Given the description of an element on the screen output the (x, y) to click on. 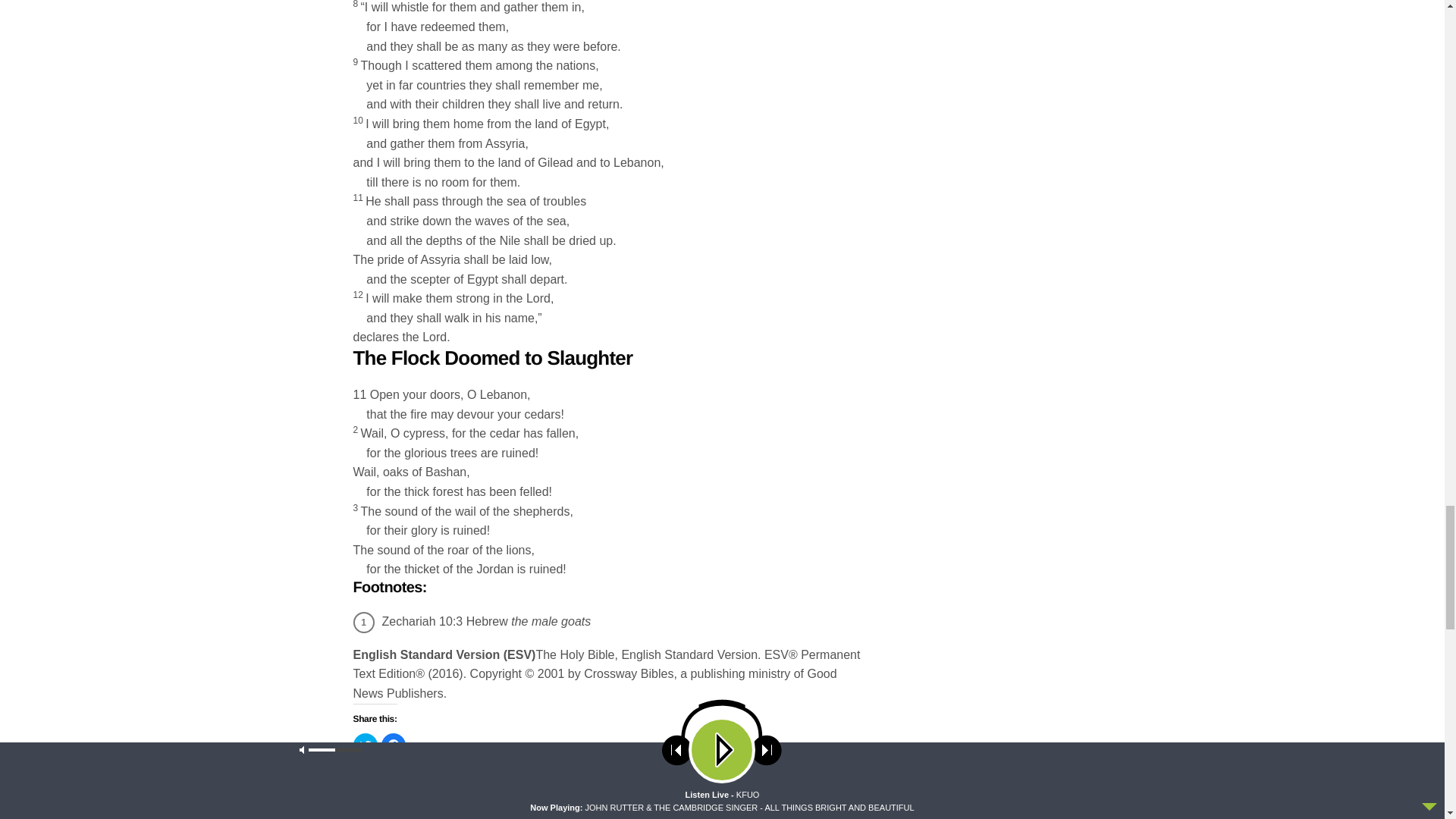
Click to share on Facebook (392, 745)
Click to share on Twitter (365, 745)
